Given the description of an element on the screen output the (x, y) to click on. 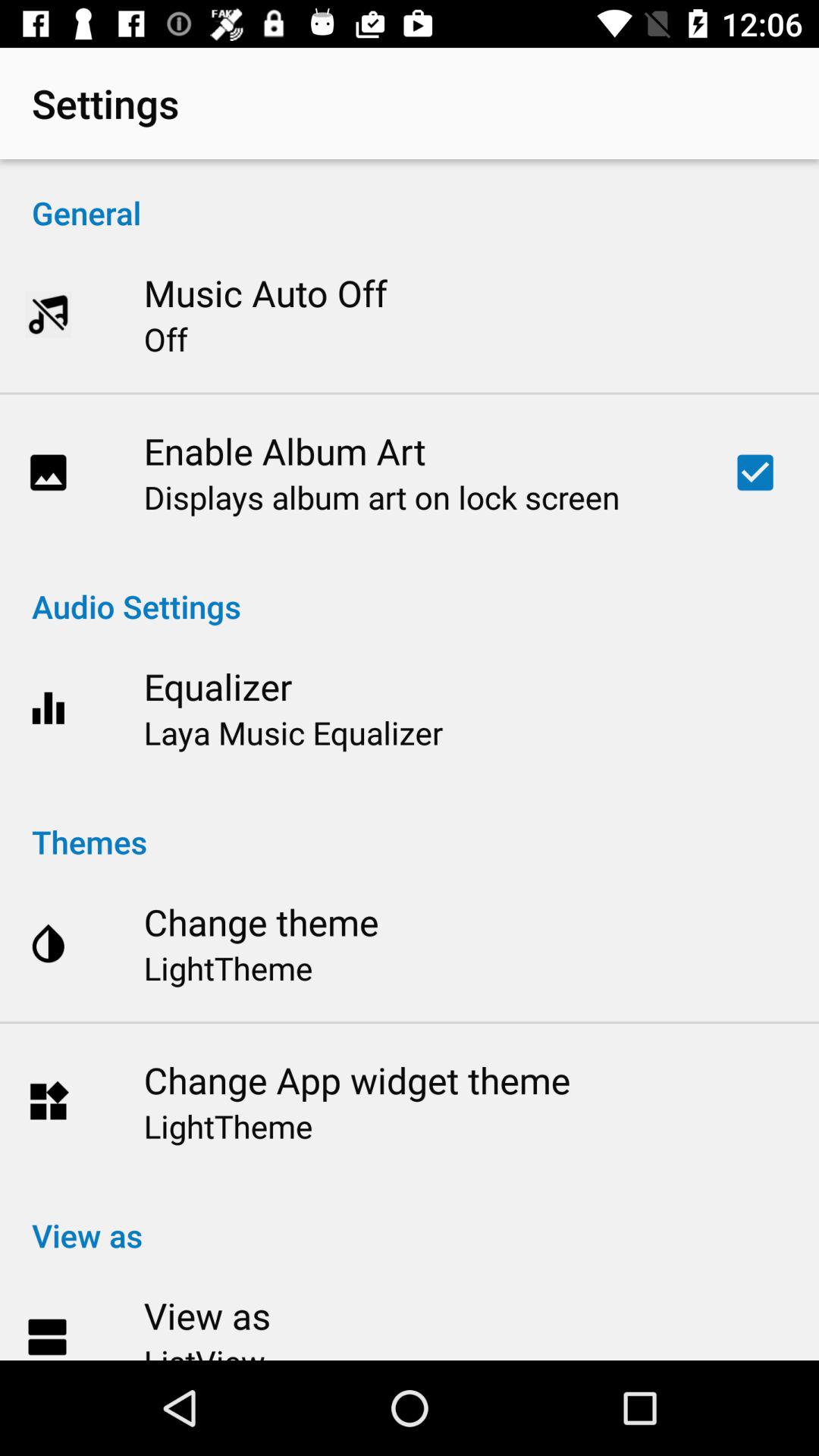
scroll to the change app widget (356, 1079)
